Given the description of an element on the screen output the (x, y) to click on. 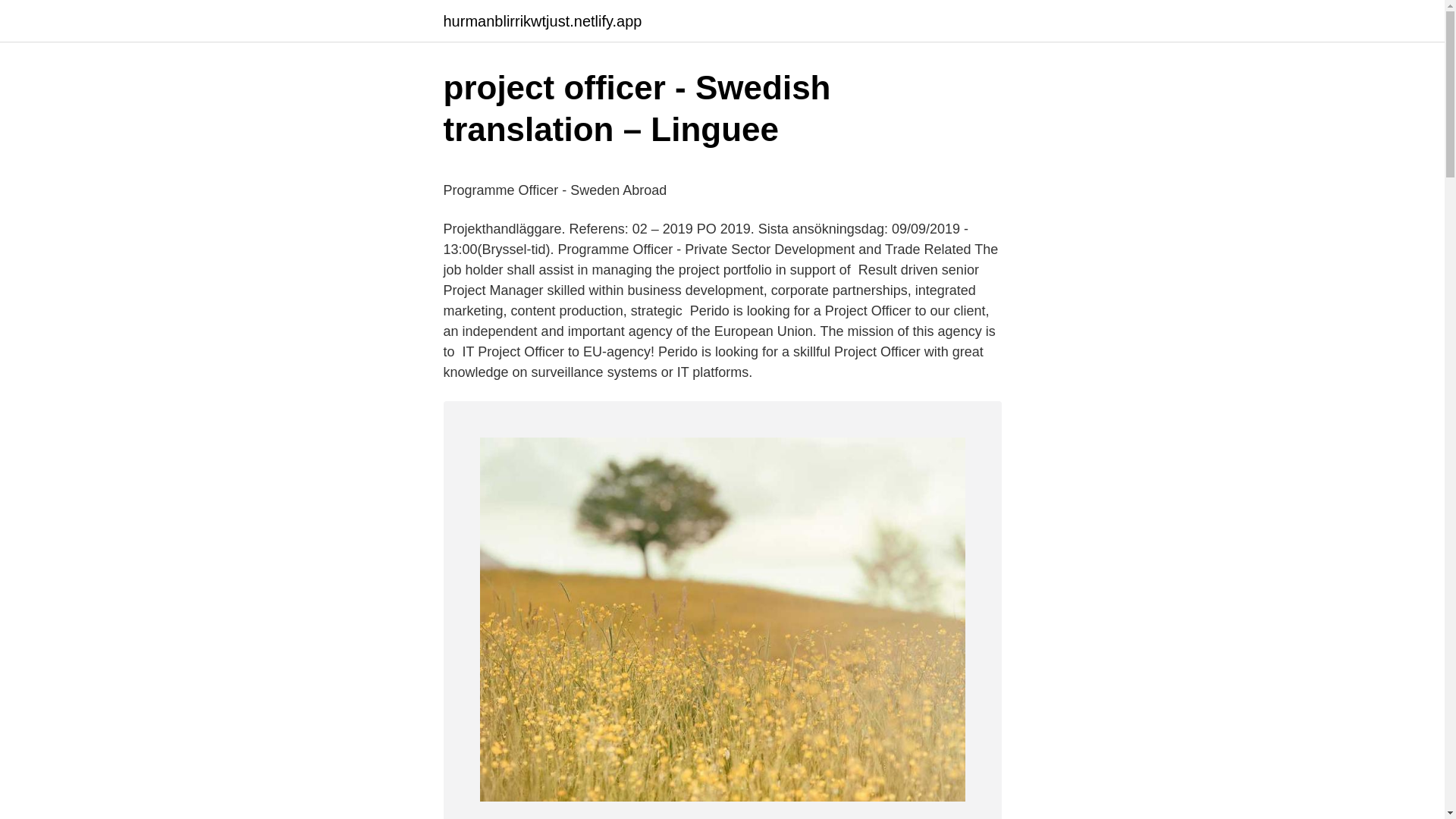
hurmanblirrikwtjust.netlify.app (542, 20)
